Given the description of an element on the screen output the (x, y) to click on. 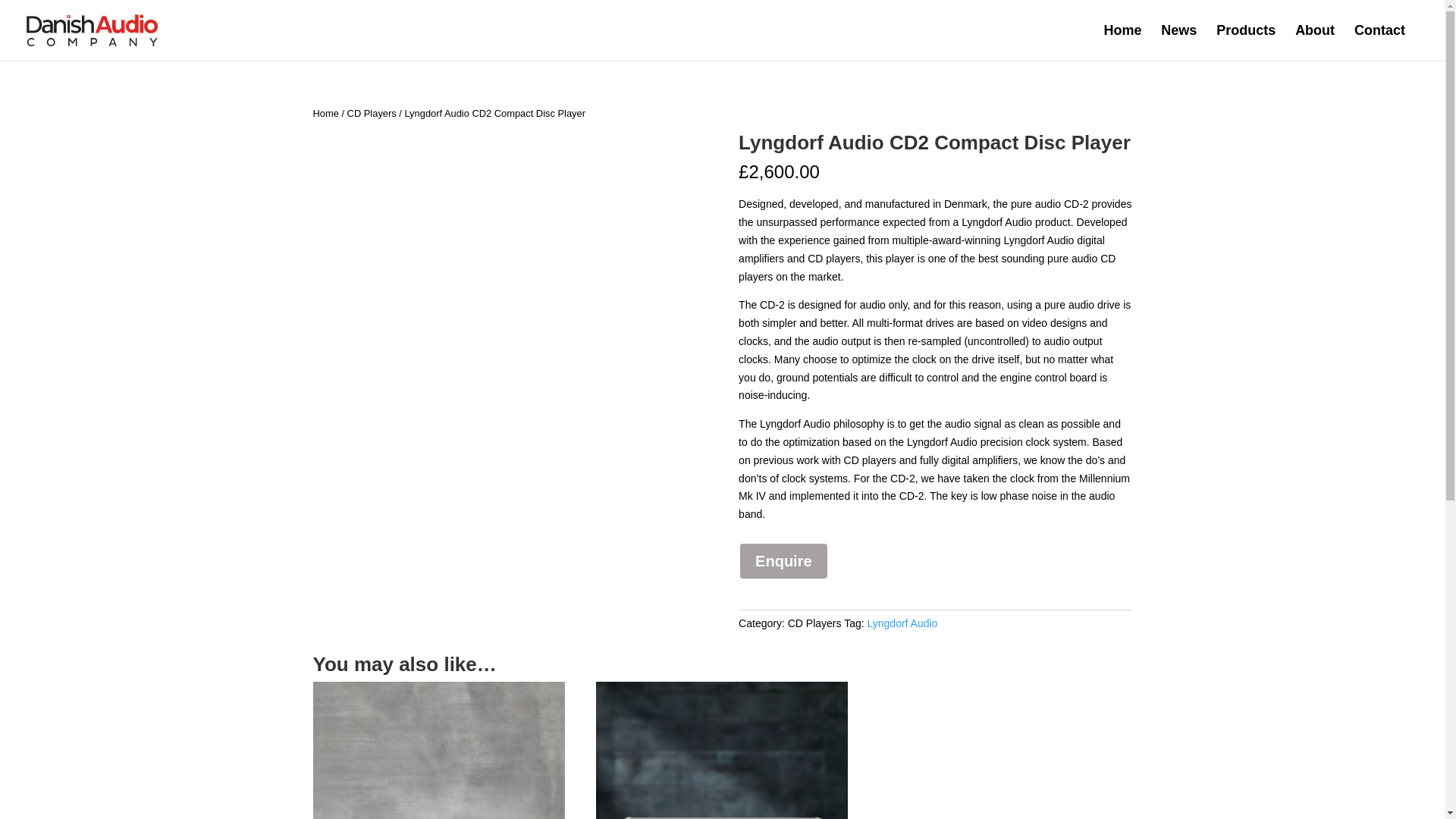
Contact (1379, 42)
CD Players (371, 112)
Home (1122, 42)
About (1315, 42)
Products (1245, 42)
Home (325, 112)
Enquire (783, 560)
News (1178, 42)
CD Players (814, 623)
Lyngdorf Audio (902, 623)
